Given the description of an element on the screen output the (x, y) to click on. 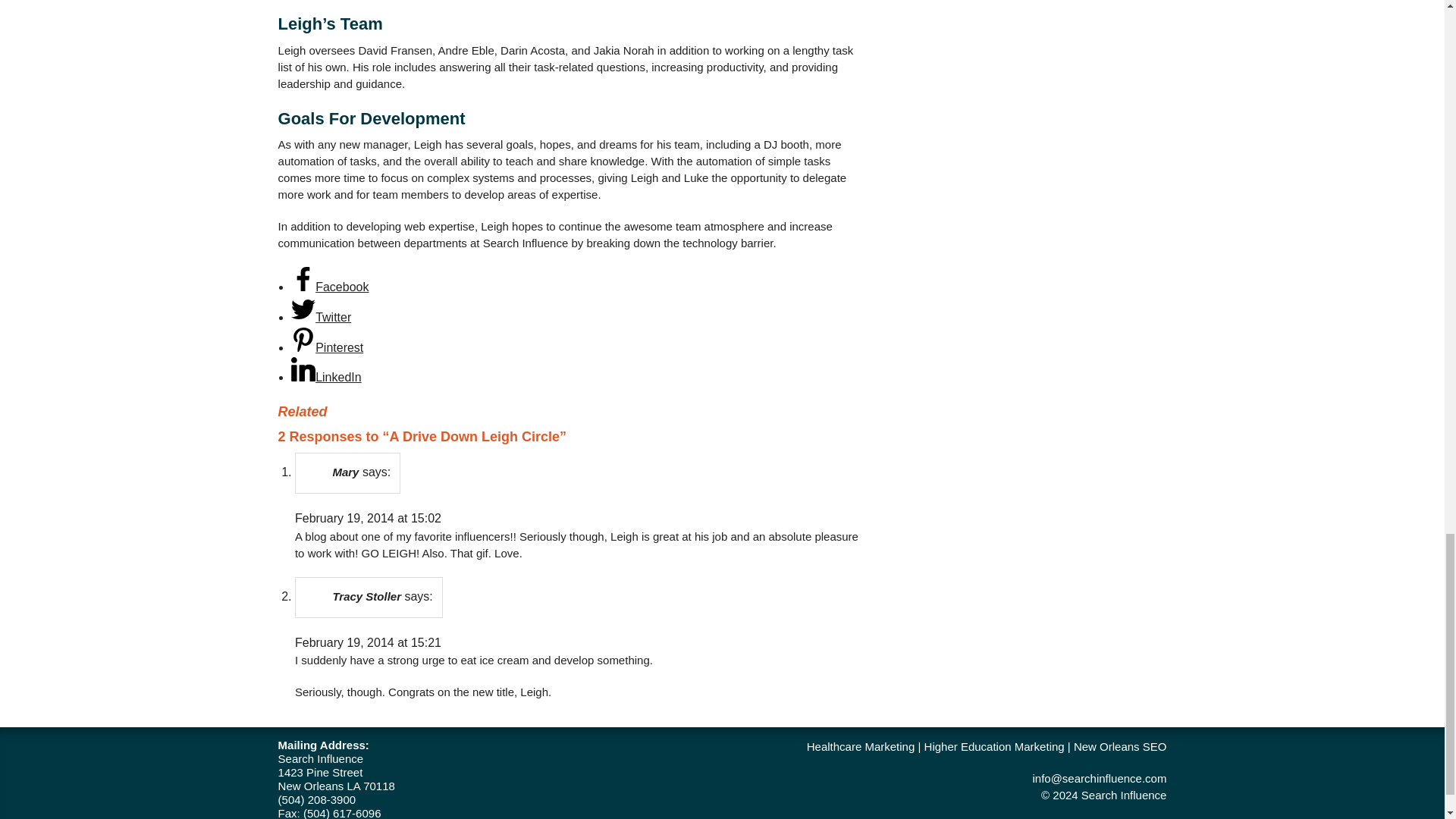
Share on Facebook (329, 286)
Share on Pinterest (326, 347)
Share on LinkedIn (326, 377)
Share on Twitter (320, 317)
